Given the description of an element on the screen output the (x, y) to click on. 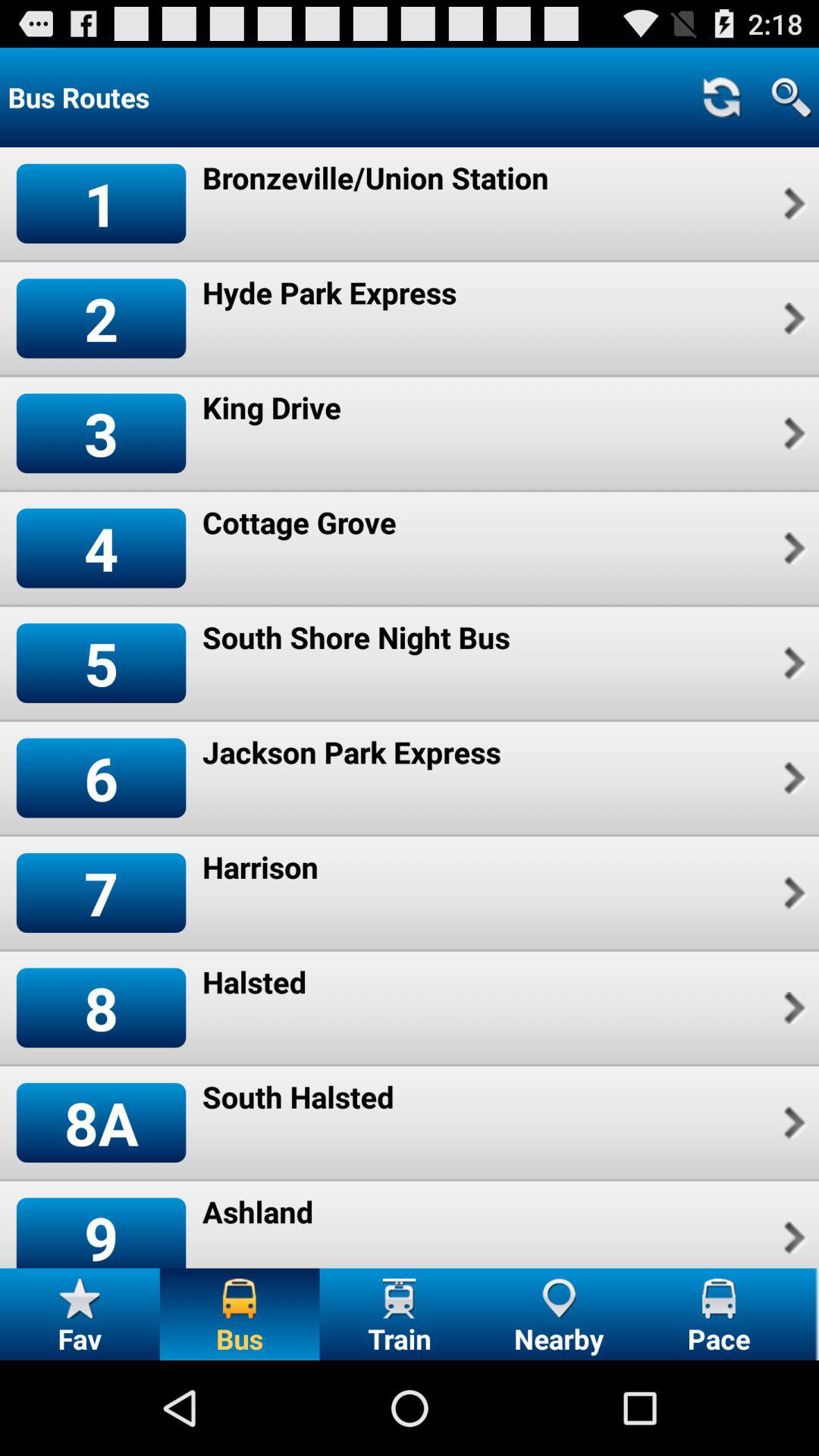
click icon to the right of the jackson park express item (792, 777)
